Given the description of an element on the screen output the (x, y) to click on. 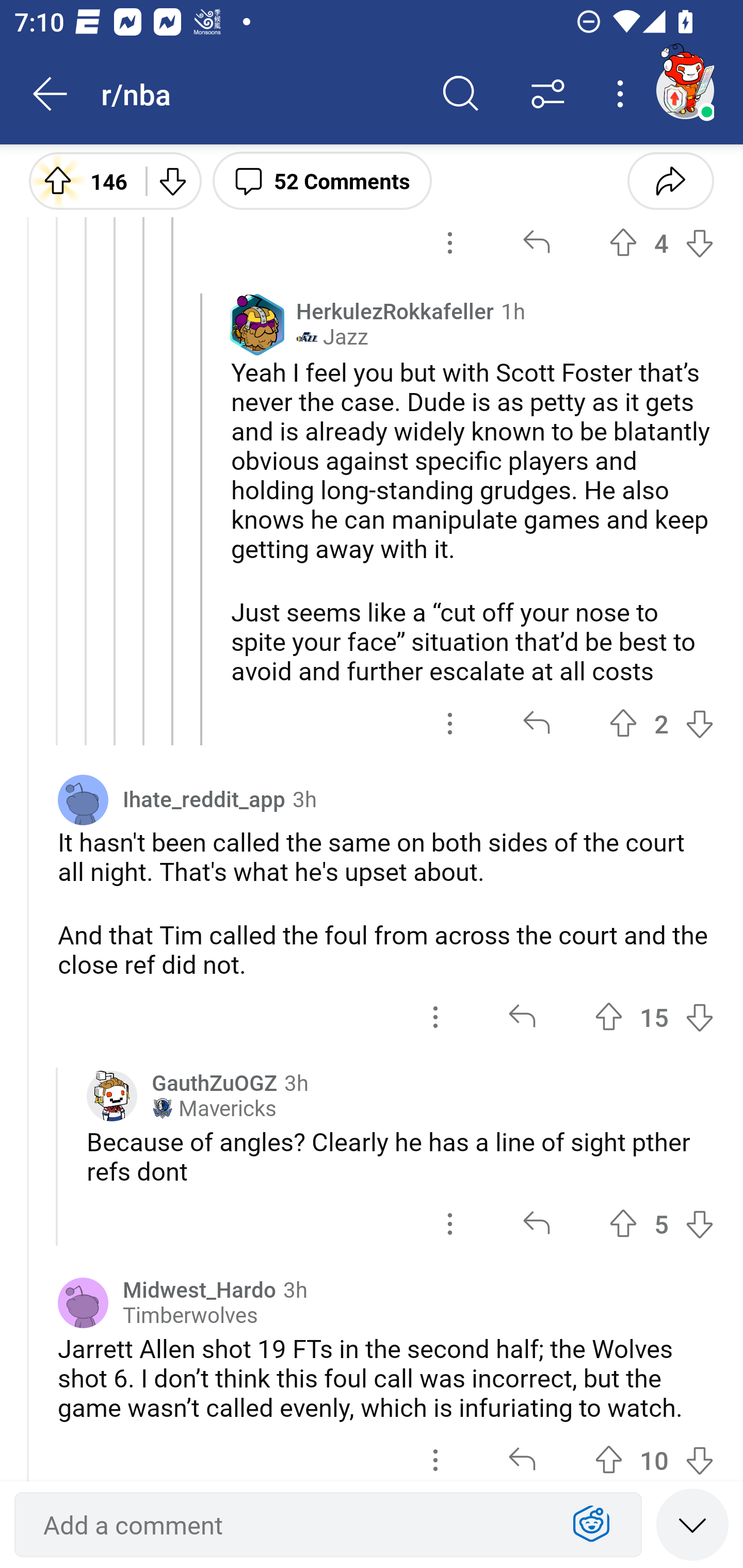
Back (50, 93)
TestAppium002 account (685, 90)
Search comments (460, 93)
Sort comments (547, 93)
More options (623, 93)
r/nba (259, 92)
Upvote 146 (79, 180)
Downvote (171, 180)
52 Comments (321, 180)
Share (670, 180)
options (449, 242)
Upvote 4 4 votes Downvote (661, 242)
￼ Jazz (332, 336)
options (449, 723)
Upvote 2 2 votes Downvote (661, 723)
Avatar (82, 799)
options (435, 1017)
Upvote 15 15 votes Downvote (654, 1017)
Custom avatar (111, 1095)
￼ Mavericks (214, 1108)
options (449, 1224)
Upvote 5 5 votes Downvote (661, 1224)
Avatar (82, 1302)
Timberwolves (190, 1315)
options (435, 1452)
Upvote 10 10 votes Downvote (654, 1452)
Speed read (692, 1524)
Add a comment (291, 1524)
Show Expressions (590, 1524)
